Given the description of an element on the screen output the (x, y) to click on. 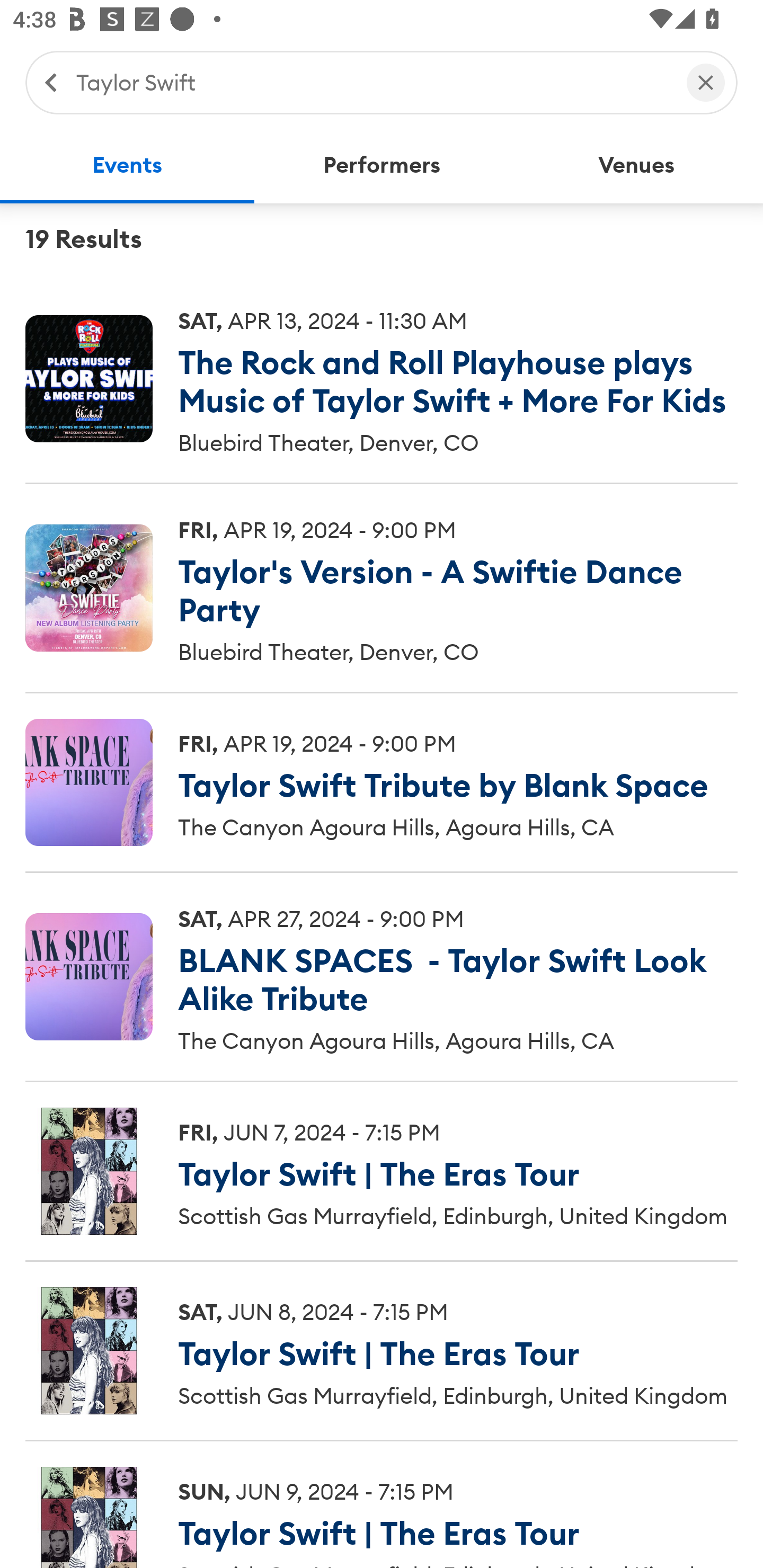
Taylor Swift (371, 81)
Clear Search (705, 81)
Performers (381, 165)
Venues (635, 165)
